Given the description of an element on the screen output the (x, y) to click on. 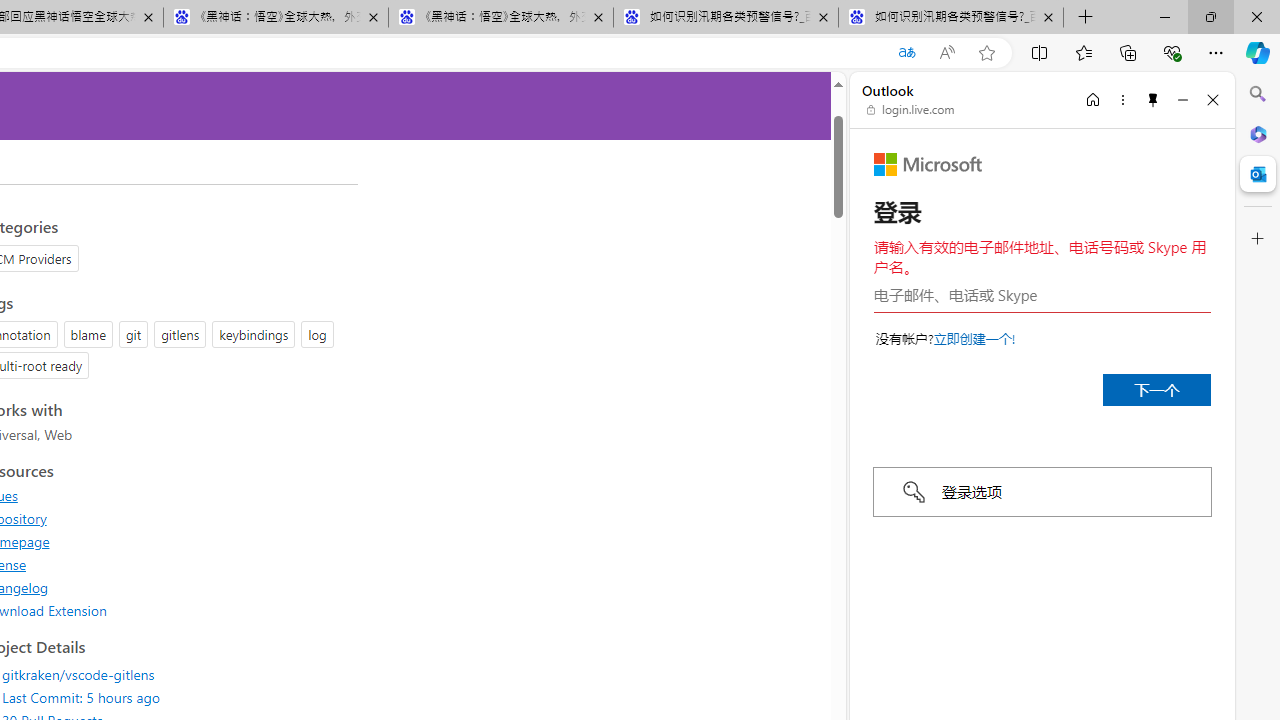
login.live.com (911, 110)
